Given the description of an element on the screen output the (x, y) to click on. 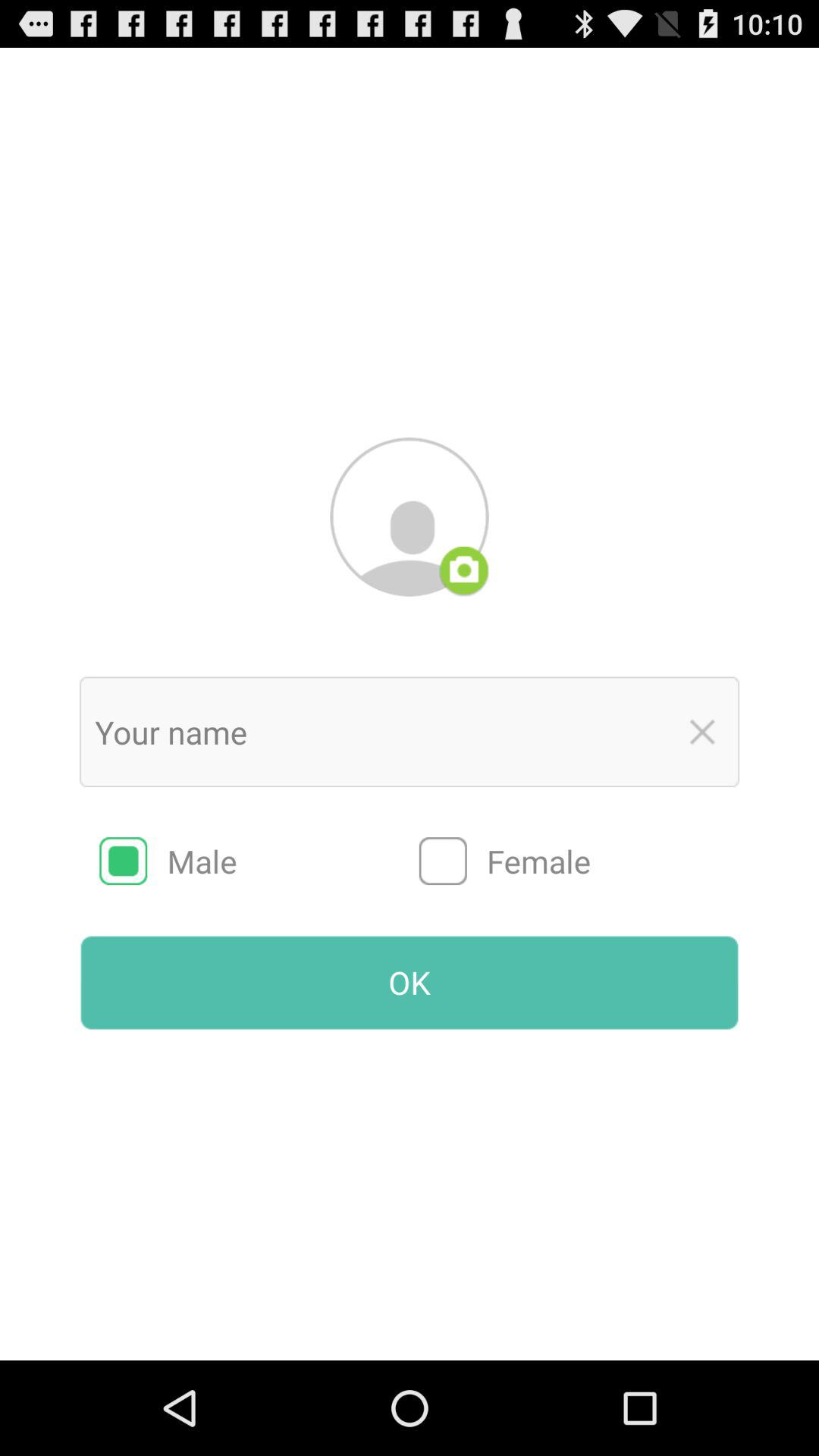
profile picture (409, 516)
